Given the description of an element on the screen output the (x, y) to click on. 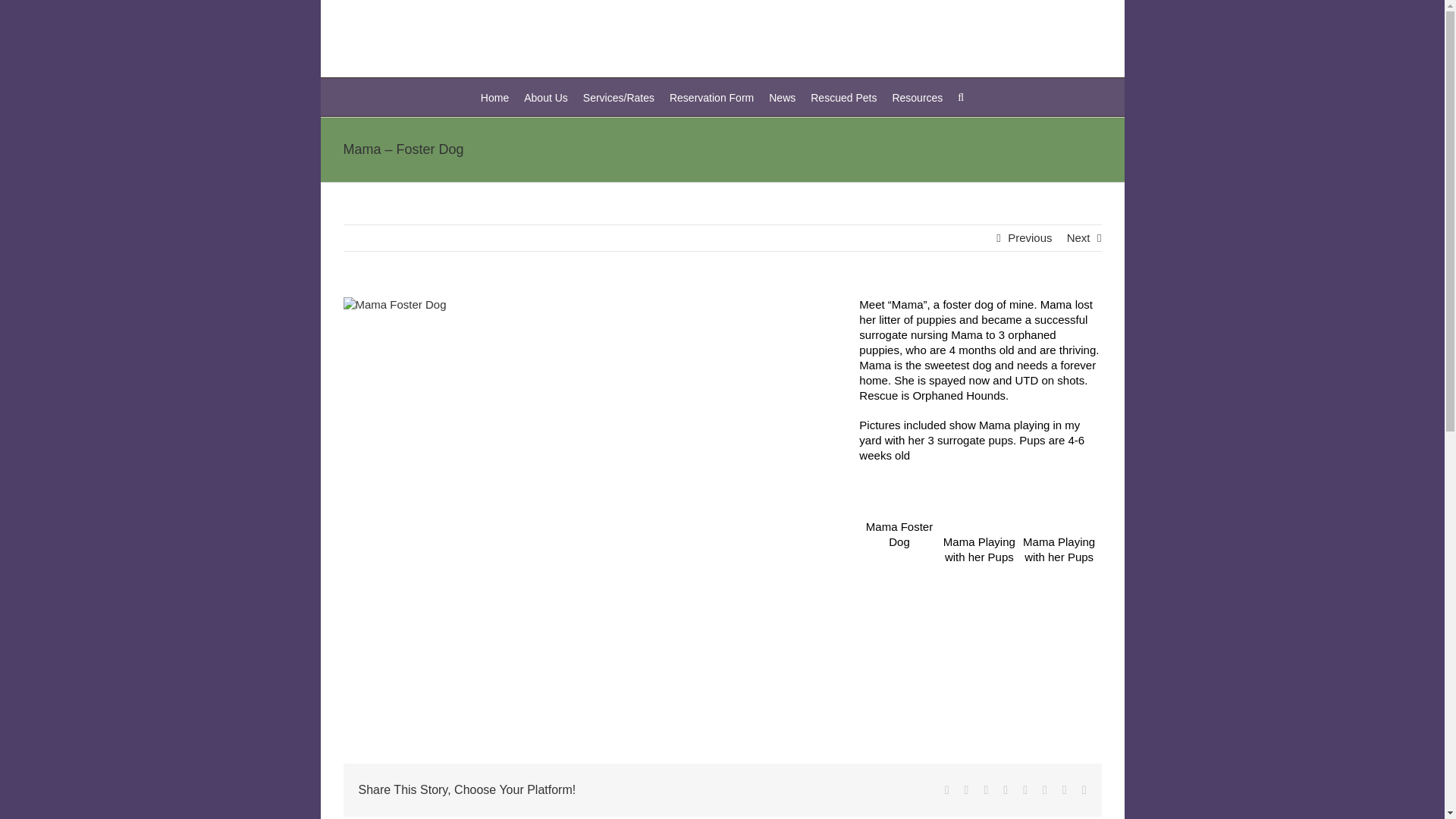
Next (1078, 237)
Resources (916, 96)
About Us (545, 96)
Rescued Pets (843, 96)
Previous (1029, 237)
Reservation Form (711, 96)
